Given the description of an element on the screen output the (x, y) to click on. 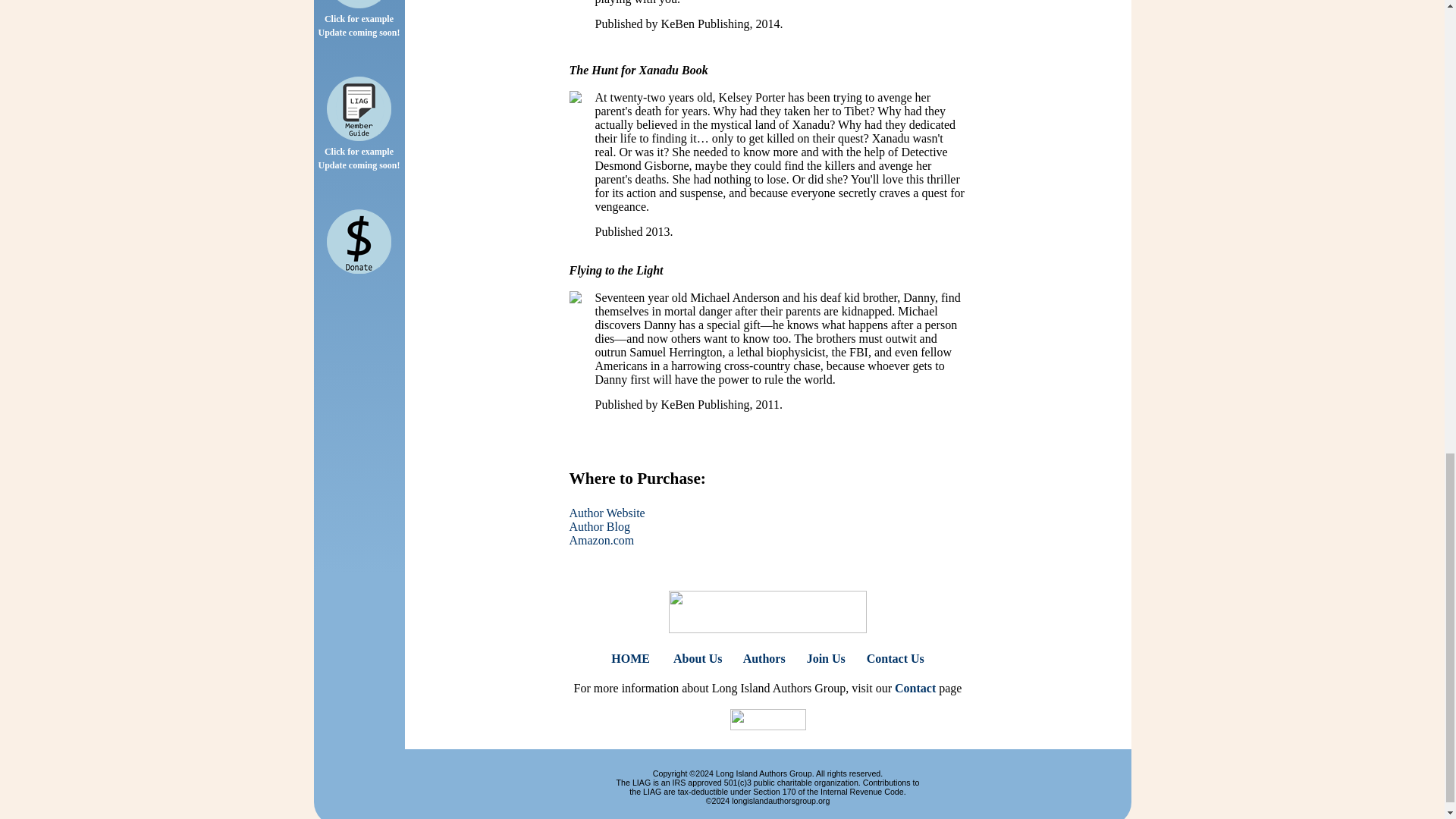
Contact Us (895, 658)
Authors (764, 658)
LIAG Member Guide (358, 108)
Amazon.com (601, 540)
Author Blog (598, 526)
LIAG Brochure (358, 4)
About Us (697, 658)
Join Us (825, 658)
Donate to LIAG (358, 241)
Contact (915, 687)
